Given the description of an element on the screen output the (x, y) to click on. 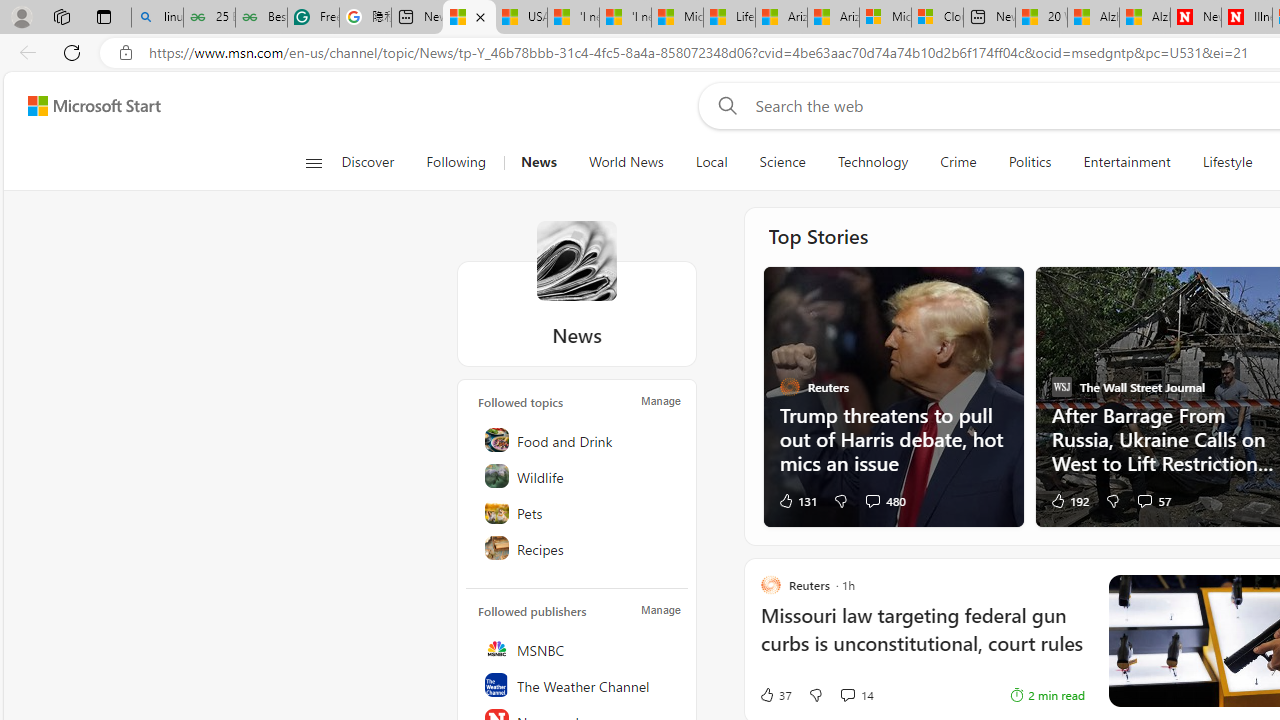
192 Like (1068, 500)
Pets (578, 511)
View comments 57 Comment (1144, 500)
View comments 14 Comment (855, 695)
View comments 57 Comment (1152, 500)
Wildlife (578, 475)
